Given the description of an element on the screen output the (x, y) to click on. 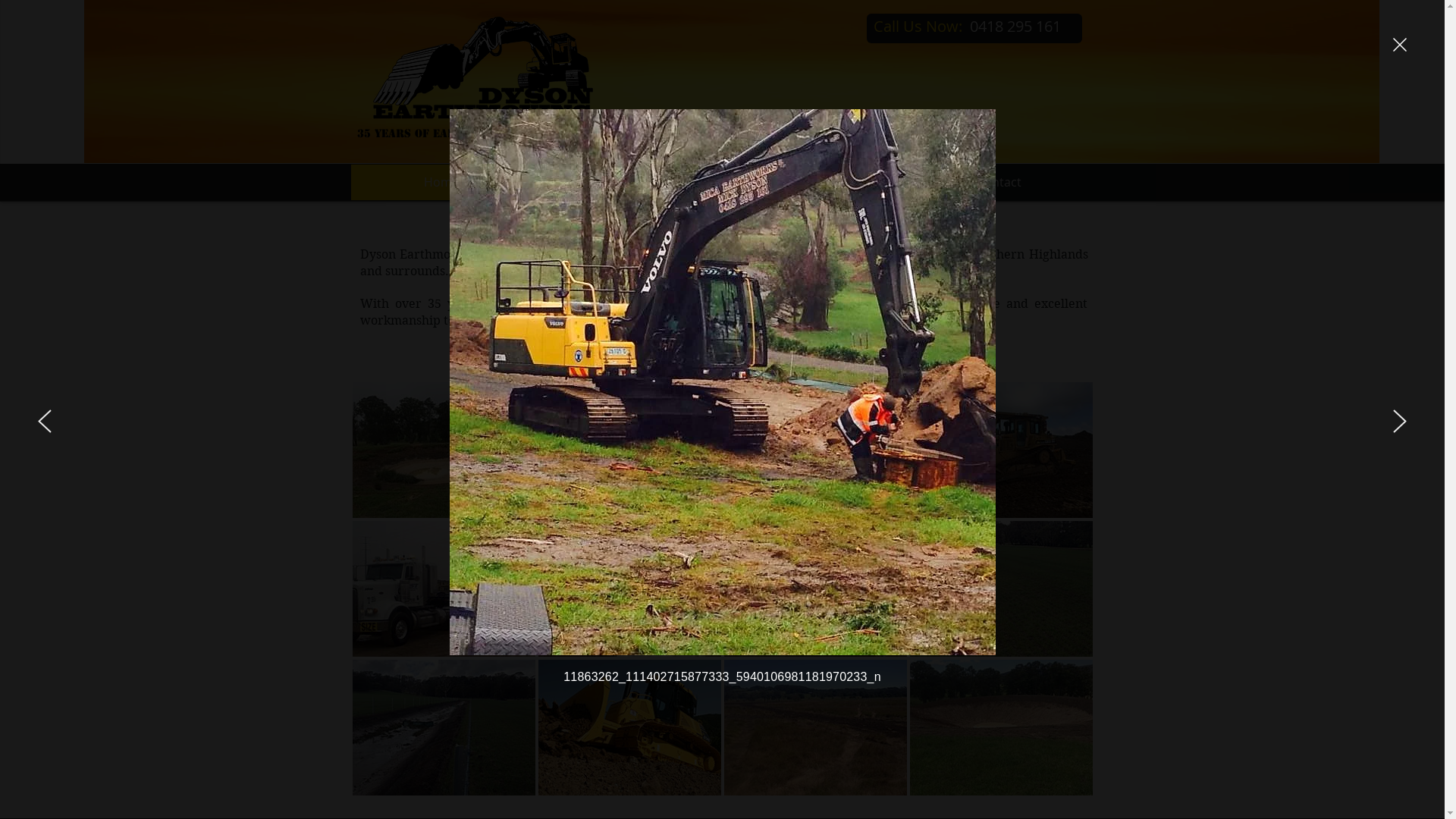
Contact Element type: text (998, 182)
Home Element type: text (440, 182)
sunset-1960aa (1)_edited.jpg Element type: hover (730, 81)
Services Element type: text (807, 182)
About Element type: text (620, 182)
